Given the description of an element on the screen output the (x, y) to click on. 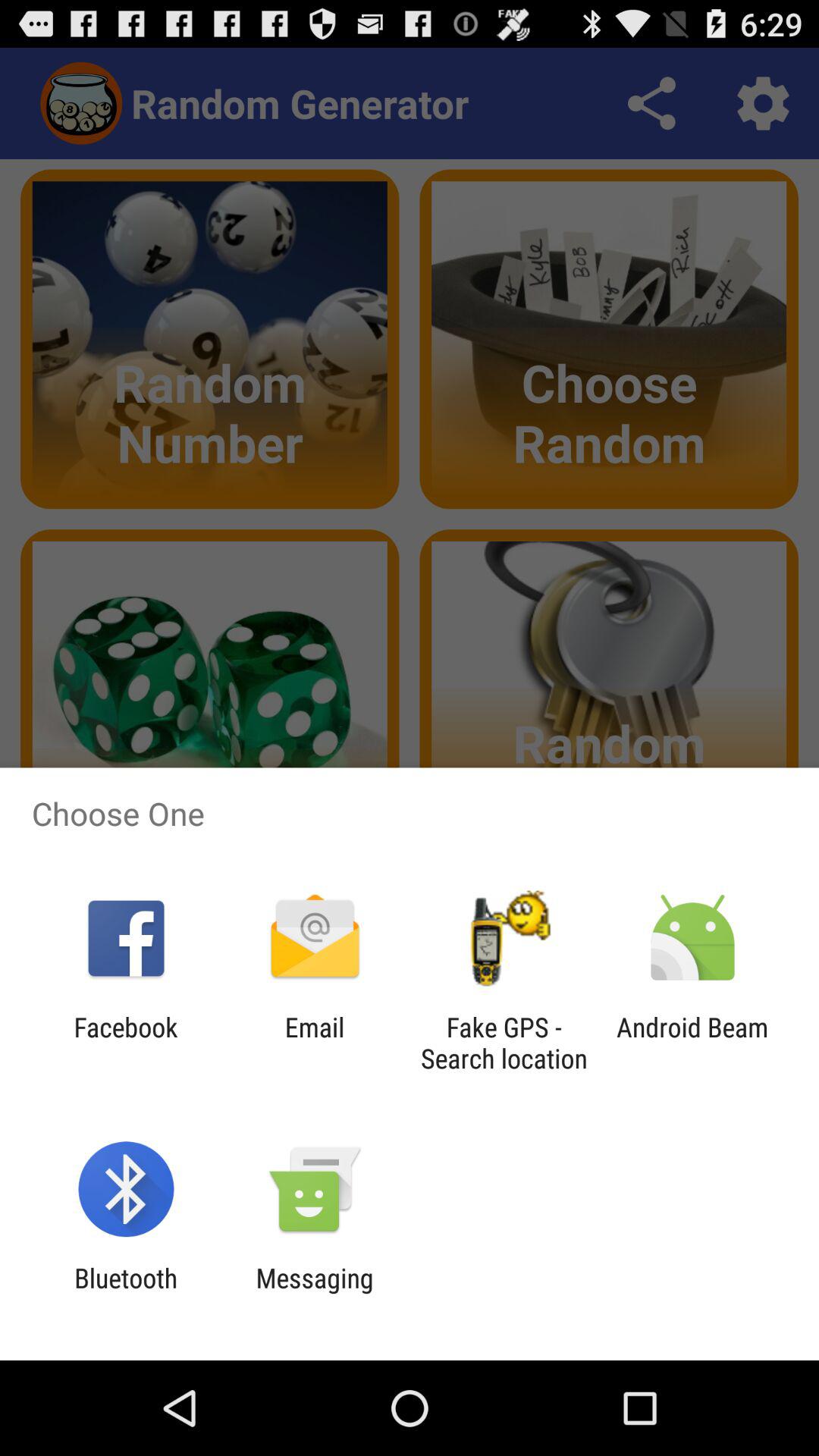
select email (314, 1042)
